Given the description of an element on the screen output the (x, y) to click on. 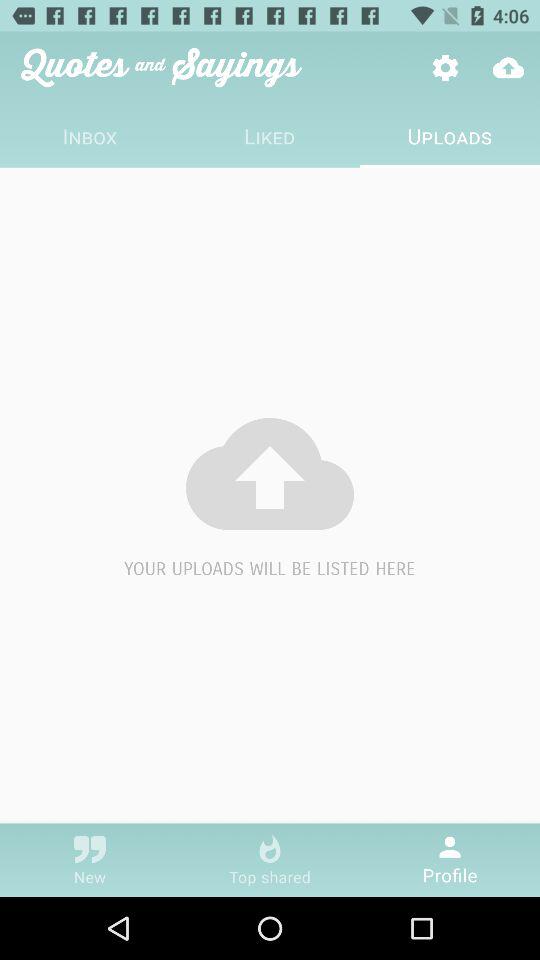
tap item above uploads (444, 67)
